Given the description of an element on the screen output the (x, y) to click on. 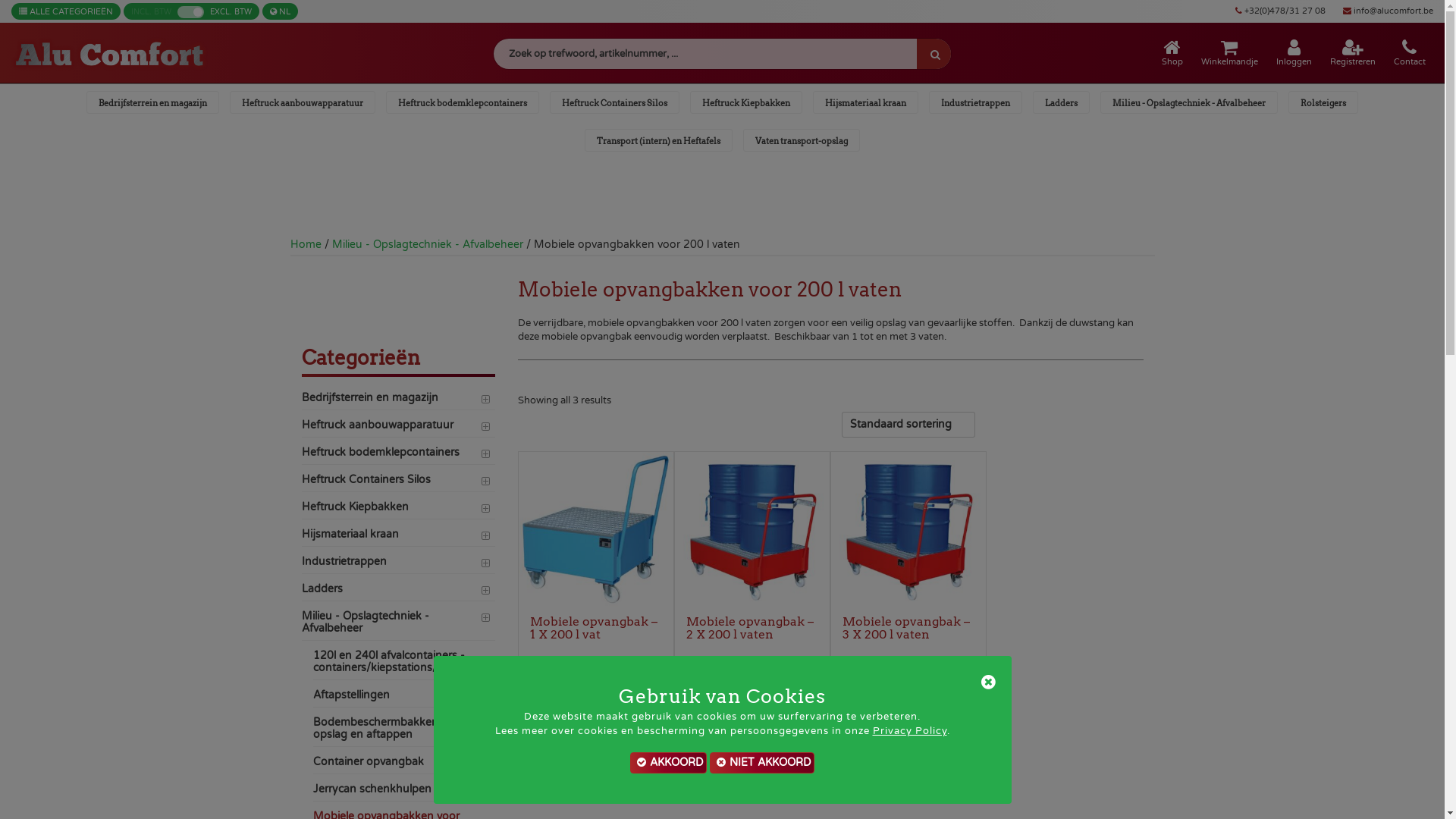
Privacy Policy Element type: text (909, 730)
Alu Comfort Element type: text (109, 52)
Heftruck Kiepbakken Element type: text (398, 510)
NIET AKKOORD Element type: text (761, 762)
Heftruck aanbouwapparatuur Element type: text (302, 102)
Ladders Element type: text (1060, 102)
INCL. BTW   EXCL. BTW Element type: text (191, 11)
Industrietrappen Element type: text (975, 102)
Aftapstellingen Element type: text (403, 698)
Home Element type: text (304, 244)
Hijsmateriaal kraan Element type: text (398, 537)
Ladders Element type: text (398, 592)
Mobiele opvangbak - 1 X 200 l vat Element type: hover (595, 528)
Bedrijfsterrein en magazijn Element type: text (152, 102)
Bedrijfsterrein en magazijn Element type: text (398, 401)
Inloggen Element type: text (1293, 52)
Milieu - Opslagtechniek - Afvalbeheer Element type: text (427, 244)
Registreren Element type: text (1352, 52)
Mobiele opvangbak - 3 X 200 l vaten Element type: hover (908, 528)
Rolsteigers Element type: text (1323, 102)
Heftruck aanbouwapparatuur Element type: text (398, 428)
Transport (intern) en Heftafels Element type: text (658, 139)
AKKOORD Element type: text (668, 762)
Milieu - Opslagtechniek - Afvalbeheer Element type: text (1188, 102)
Vaten transport-opslag Element type: text (801, 139)
Milieu - Opslagtechniek - Afvalbeheer Element type: text (398, 625)
Heftruck Containers Silos Element type: text (614, 102)
Mobiele opvangbak - 2 X 200 l vaten Element type: hover (751, 528)
Contact Element type: text (1409, 52)
Heftruck Containers Silos Element type: text (398, 482)
Industrietrappen Element type: text (398, 564)
Container opvangbak Element type: text (403, 765)
NL Element type: text (280, 11)
Heftruck bodemklepcontainers Element type: text (462, 102)
Heftruck bodemklepcontainers Element type: text (398, 455)
Shop Element type: text (1172, 52)
Heftruck Kiepbakken Element type: text (746, 102)
  Element type: text (933, 53)
Jerrycan schenkhulpen Element type: text (403, 792)
Bodembeschermbakken voor opslag en aftappen Element type: text (403, 731)
Winkelmandje Element type: text (1229, 52)
Hijsmateriaal kraan Element type: text (865, 102)
